Given the description of an element on the screen output the (x, y) to click on. 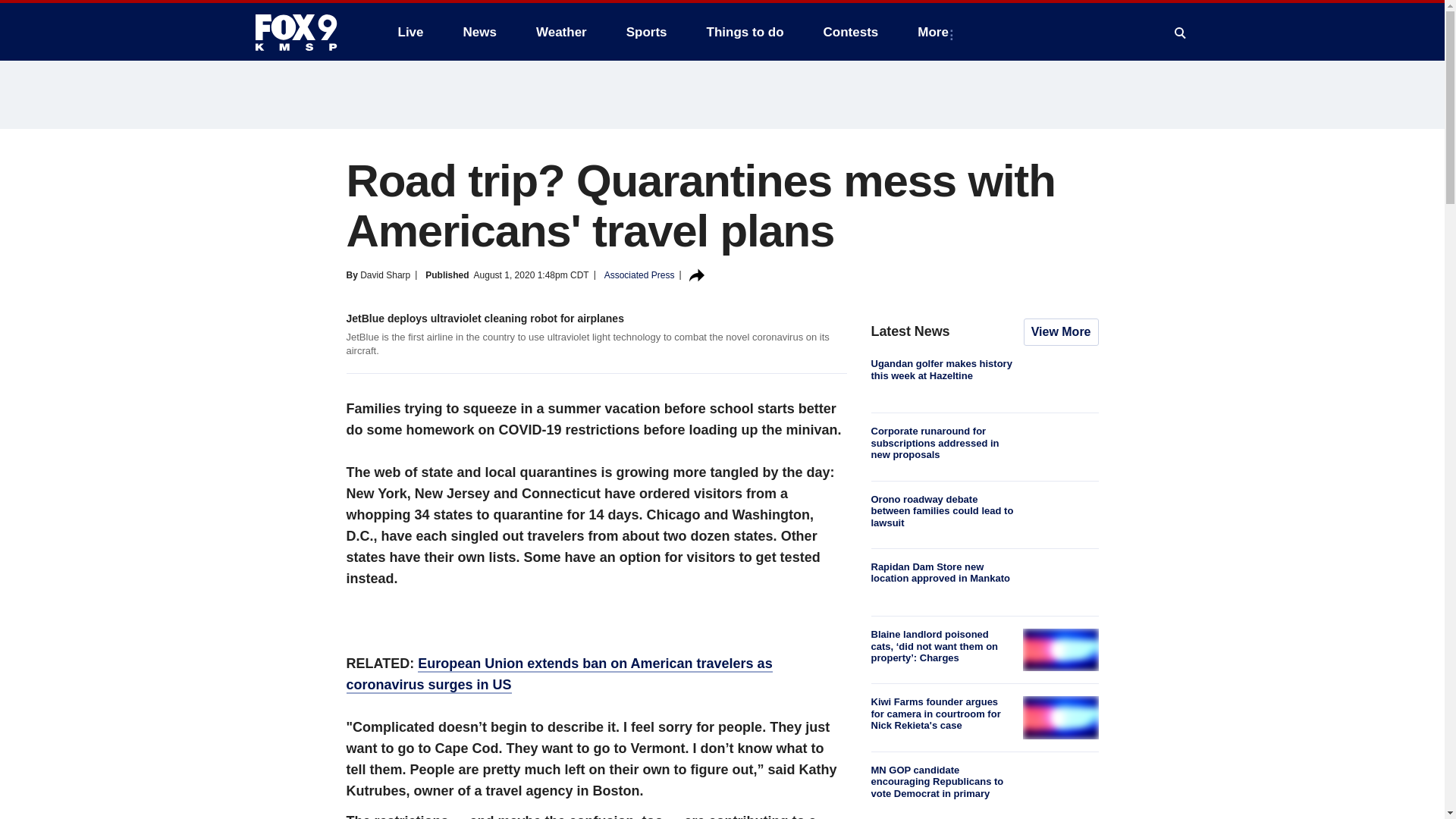
Contests (850, 32)
Things to do (745, 32)
News (479, 32)
Weather (561, 32)
Live (410, 32)
Sports (646, 32)
More (935, 32)
